Given the description of an element on the screen output the (x, y) to click on. 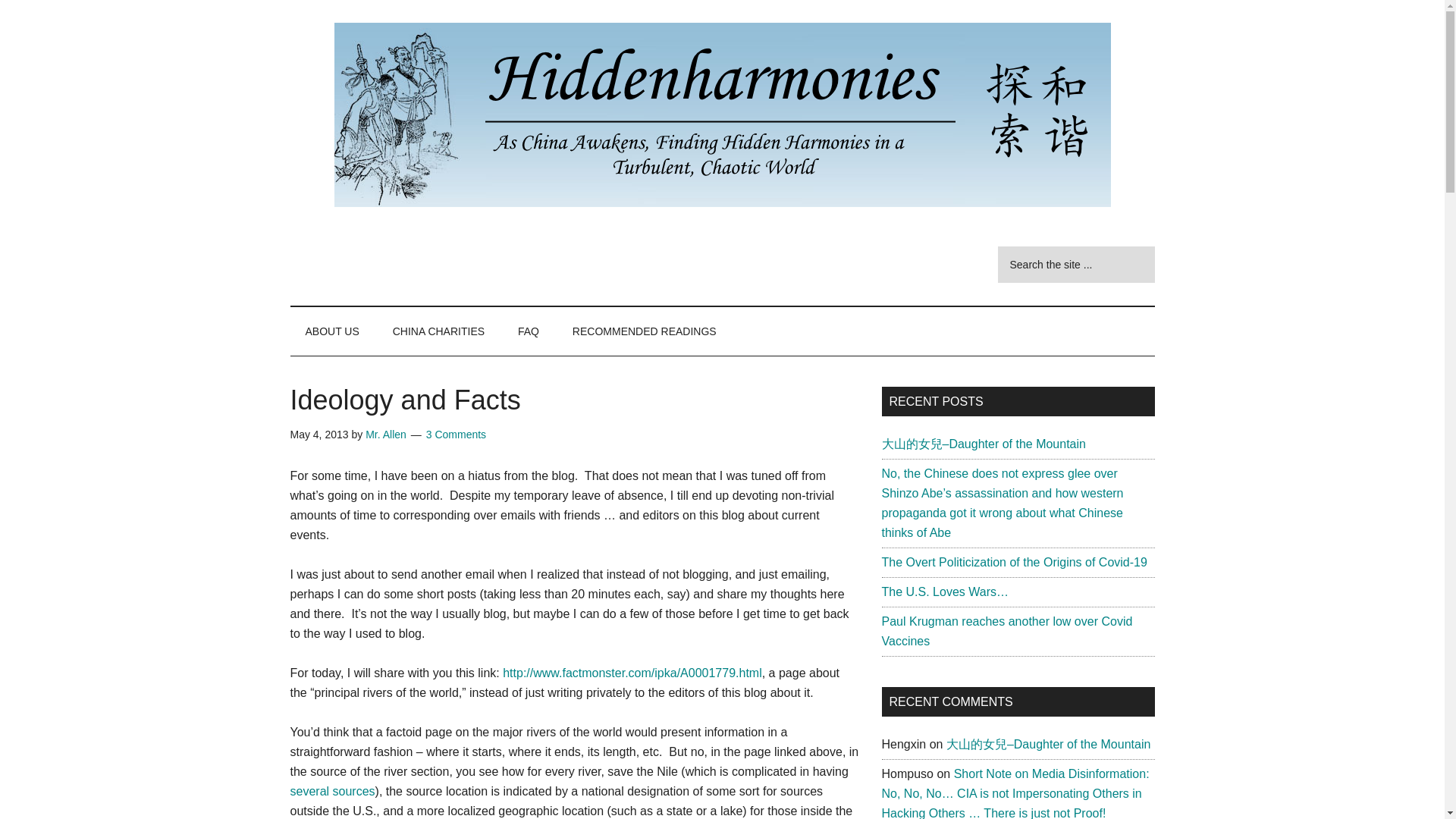
The Overt Politicization of the Origins of Covid-19 (1013, 562)
3 Comments (456, 434)
Mr. Allen (385, 434)
several sources (331, 790)
ABOUT US (331, 331)
Paul Krugman reaches another low over Covid Vaccines (1006, 631)
